Given the description of an element on the screen output the (x, y) to click on. 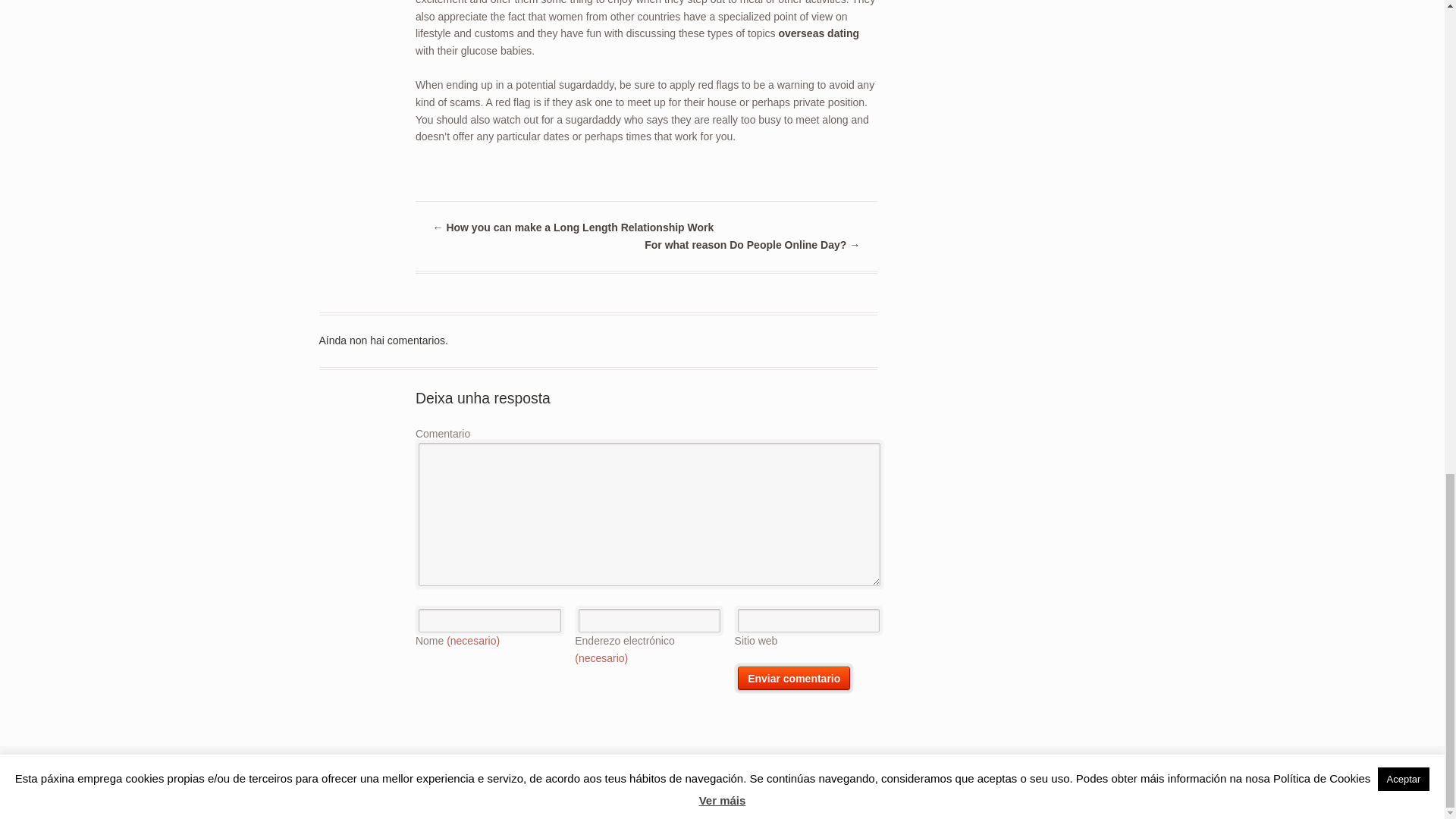
overseas dating (818, 33)
Enviar comentario (794, 678)
Enviar comentario (794, 678)
